Given the description of an element on the screen output the (x, y) to click on. 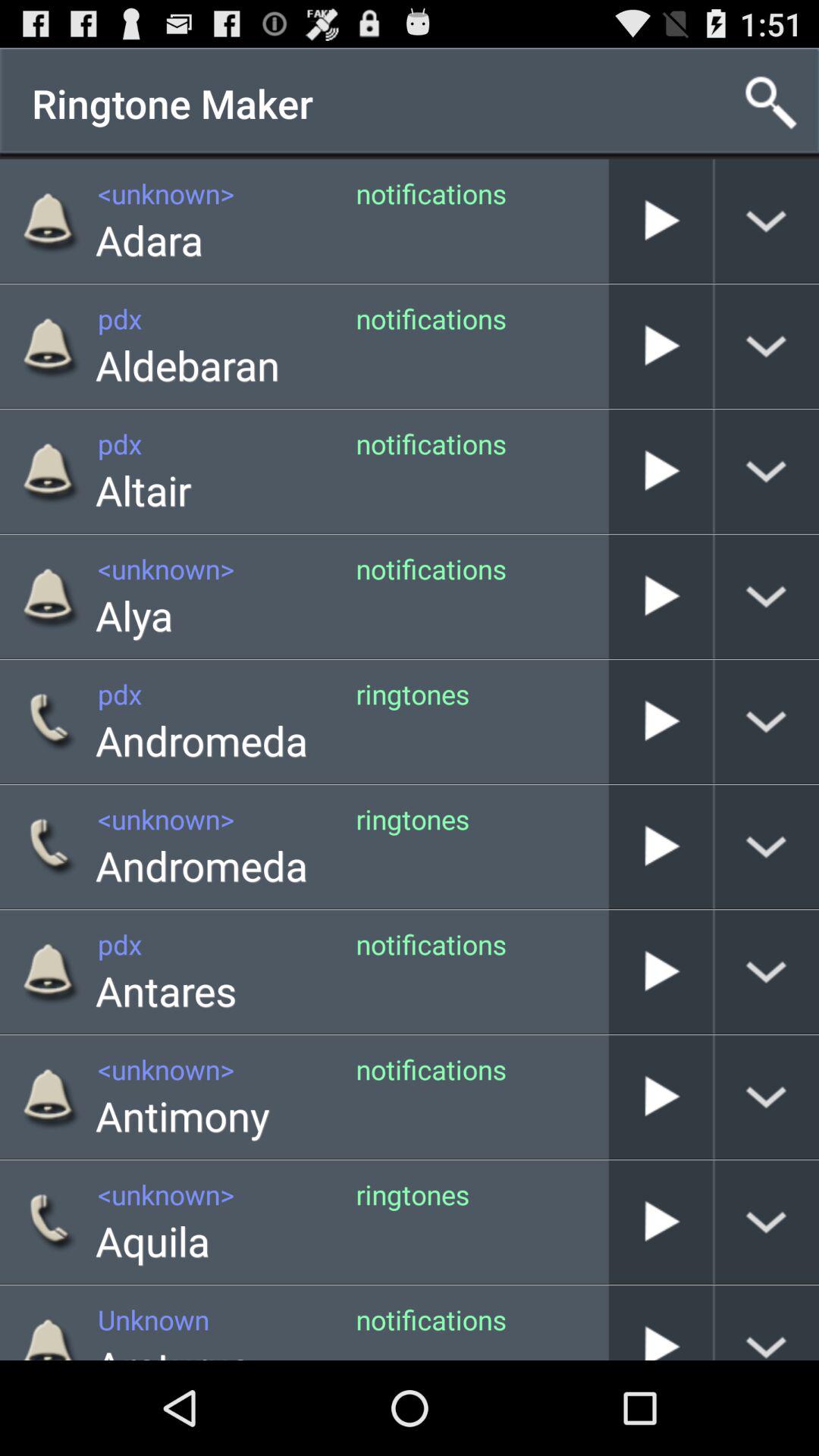
play andromeda ringtones (660, 721)
